Given the description of an element on the screen output the (x, y) to click on. 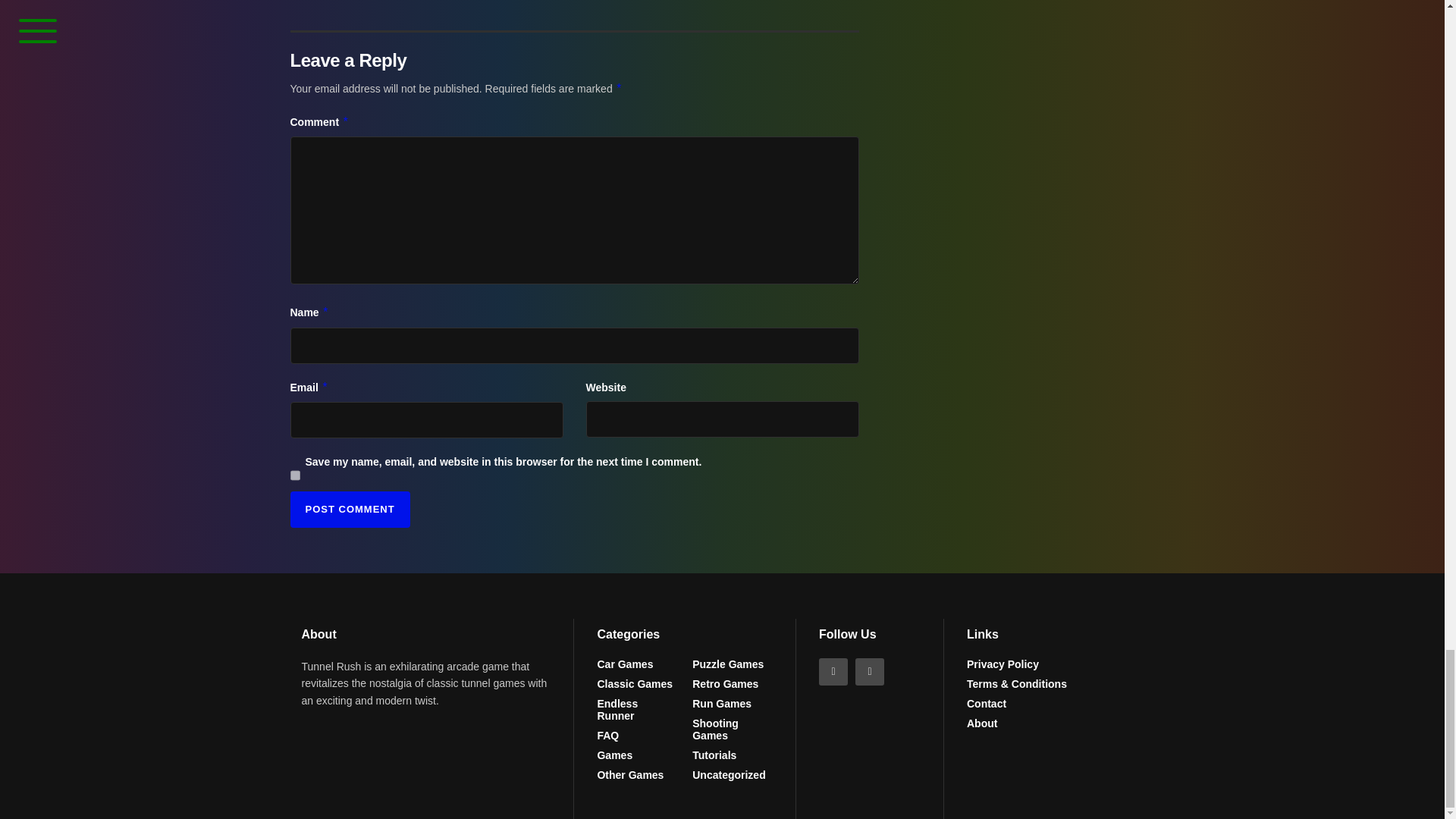
Post Comment (349, 509)
